Given the description of an element on the screen output the (x, y) to click on. 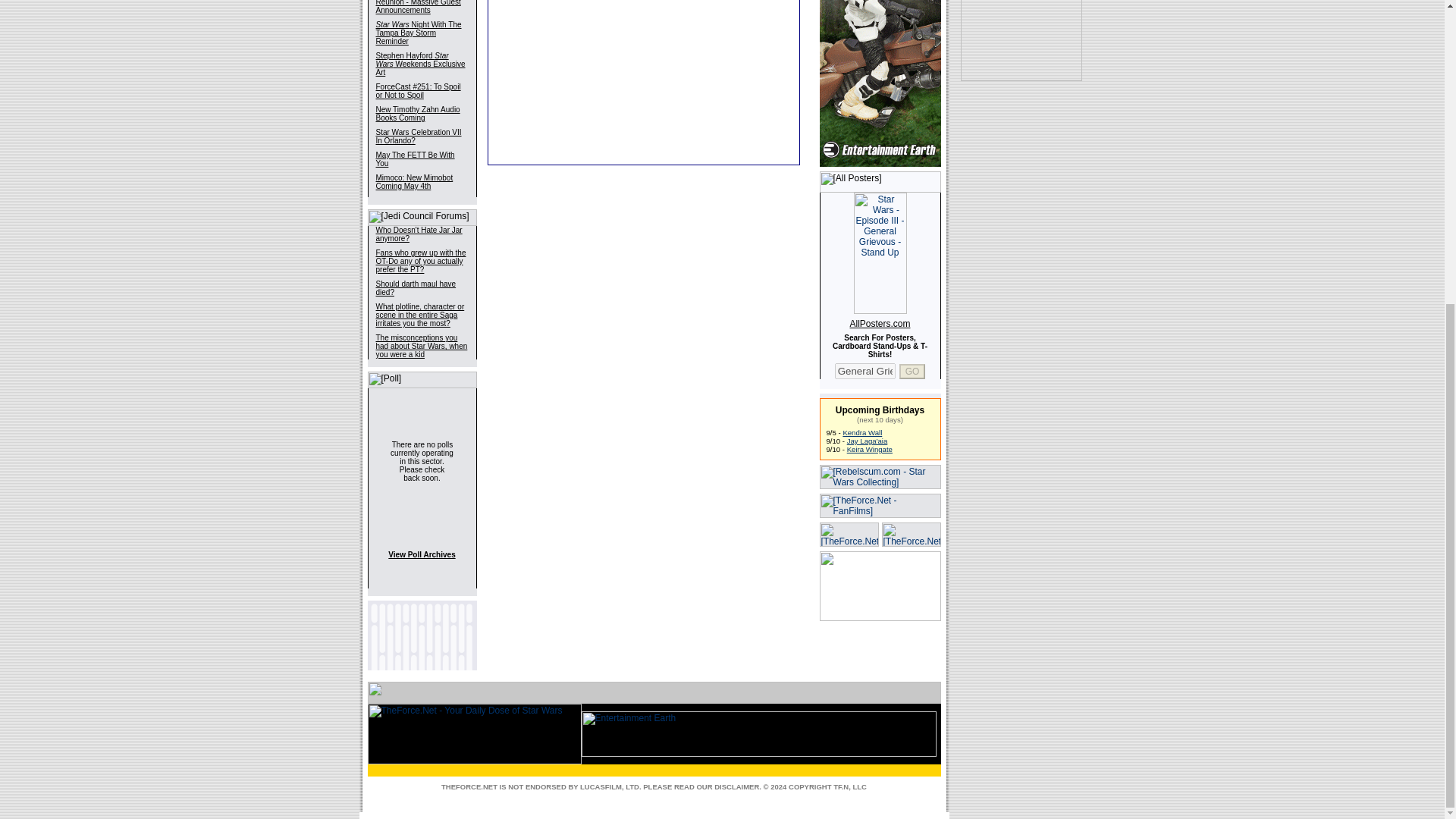
EP 6: Ewok (862, 432)
May The FETT Be With You (414, 158)
Who Doesn't Hate Jar Jar anymore? (419, 234)
Mimoco: New Mimobot Coming May 4th (413, 181)
Star Wars Celebration VII In Orlando? (418, 135)
EP 3: Ryoo Naberrie (869, 449)
GO (912, 370)
Should darth maul have died? (416, 288)
CEII: Jabba's Palace Reunion - Massive Guest Announcements (418, 7)
